Given the description of an element on the screen output the (x, y) to click on. 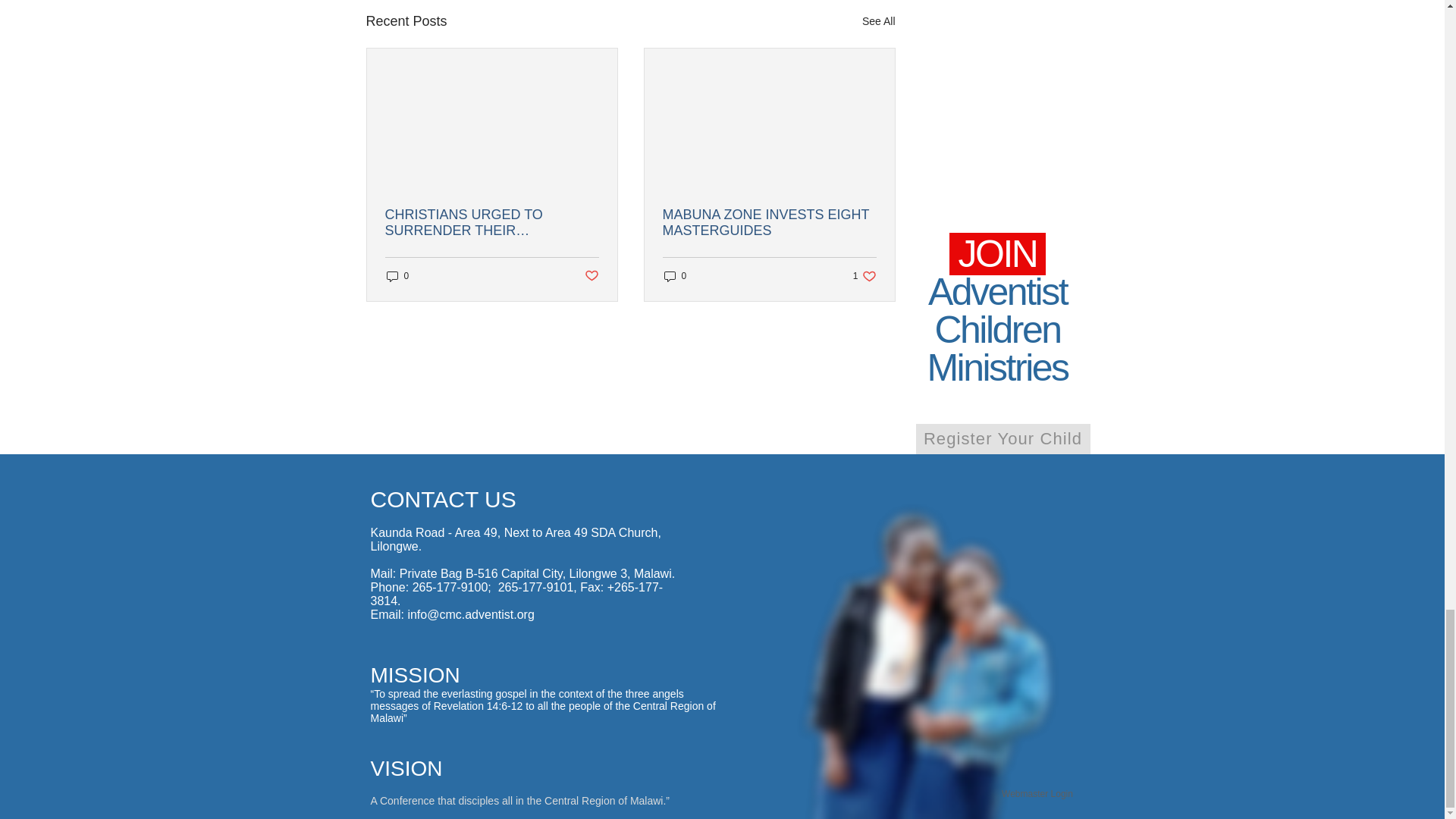
MABUNA ZONE INVESTS EIGHT MASTERGUIDES (769, 223)
See All (878, 21)
0 (675, 276)
Post not marked as liked (864, 276)
CHRISTIANS URGED TO SURRENDER THEIR CHALLENGES TO GOD (590, 276)
0 (491, 223)
Register Your Child (397, 276)
Webmaster Login (1002, 439)
